Given the description of an element on the screen output the (x, y) to click on. 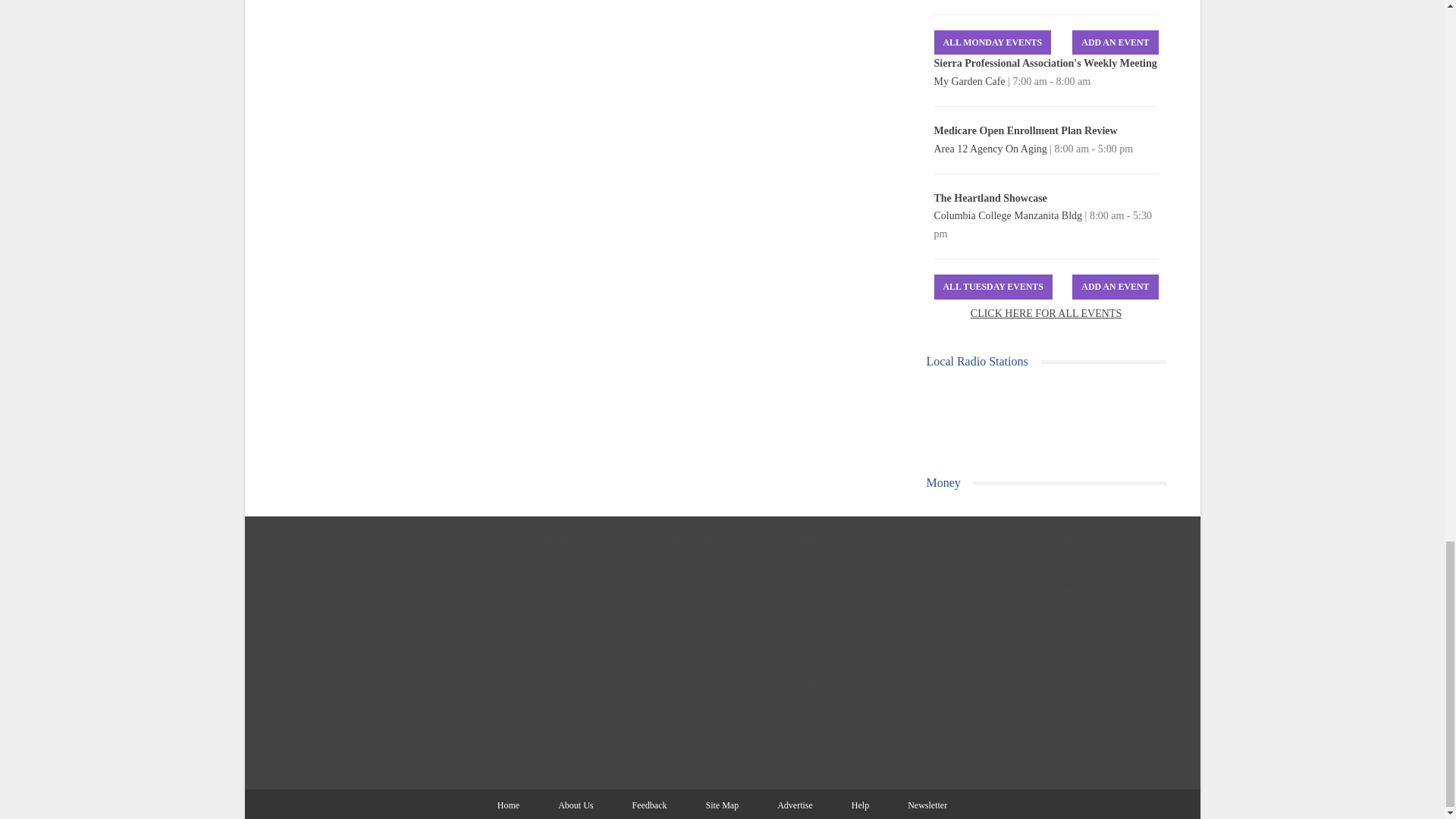
Add An Event (1114, 286)
All Monday Events (992, 42)
Add An Event (1114, 42)
All Tuesday Events (993, 286)
